Given the description of an element on the screen output the (x, y) to click on. 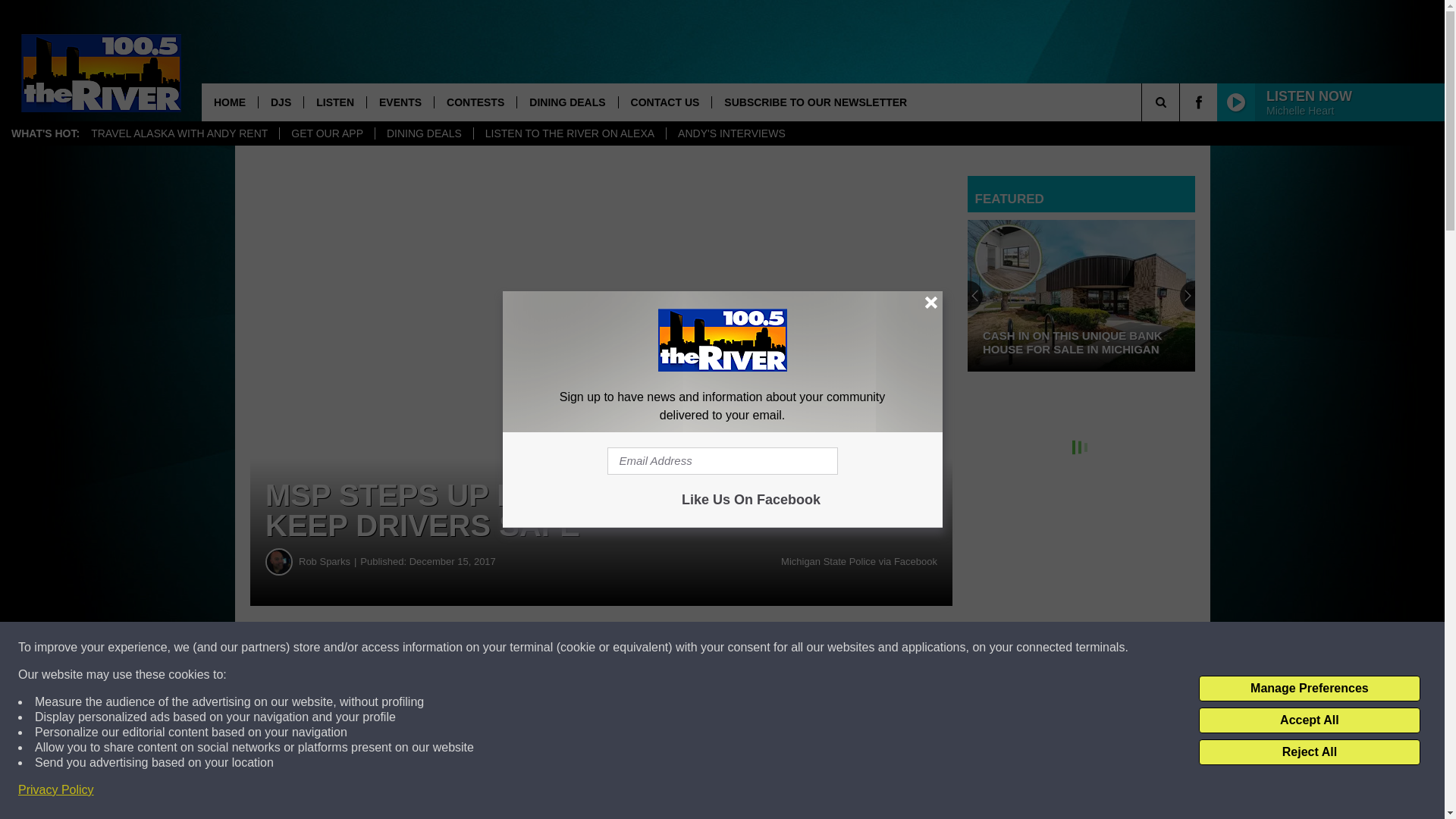
DINING DEALS (566, 102)
GET OUR APP (326, 133)
CONTACT US (664, 102)
LISTEN TO THE RIVER ON ALEXA (569, 133)
HOME (229, 102)
DINING DEALS (423, 133)
SEARCH (1182, 102)
SUBSCRIBE TO OUR NEWSLETTER (814, 102)
Privacy Policy (55, 789)
SEARCH (1182, 102)
Accept All (1309, 720)
DJS (279, 102)
Reject All (1309, 751)
CONTESTS (474, 102)
EVENTS (399, 102)
